Given the description of an element on the screen output the (x, y) to click on. 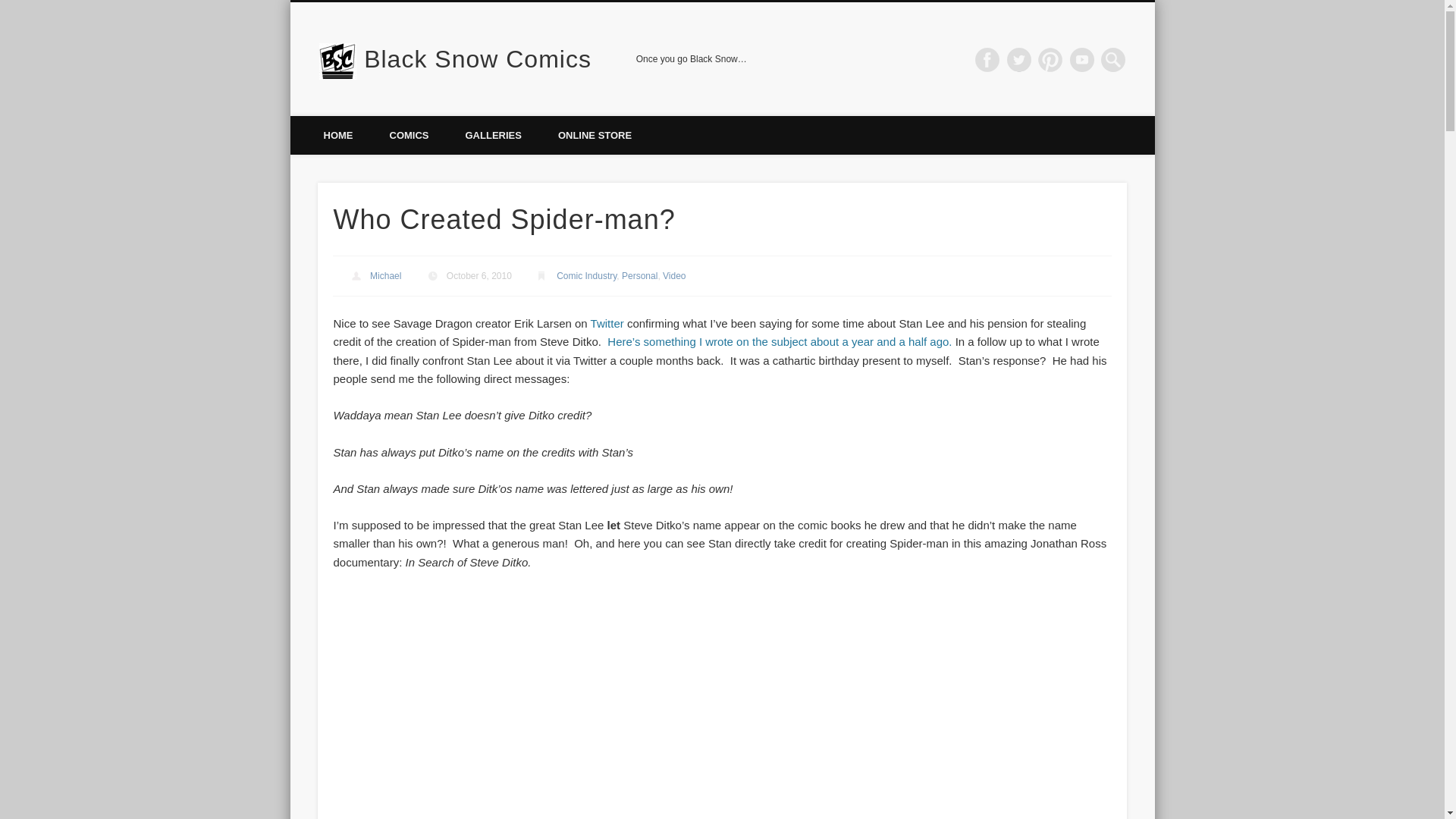
Twitter (607, 323)
Black Snow Comics (477, 58)
ONLINE STORE (594, 135)
Twitter (1018, 59)
GALLERIES (493, 135)
Michael (385, 276)
HOME (337, 135)
Pinterest (1050, 59)
COMICS (408, 135)
Posts by Michael (385, 276)
Comic Industry (585, 276)
Personal (639, 276)
Video (673, 276)
Facebook (986, 59)
Vimeo (1082, 59)
